Given the description of an element on the screen output the (x, y) to click on. 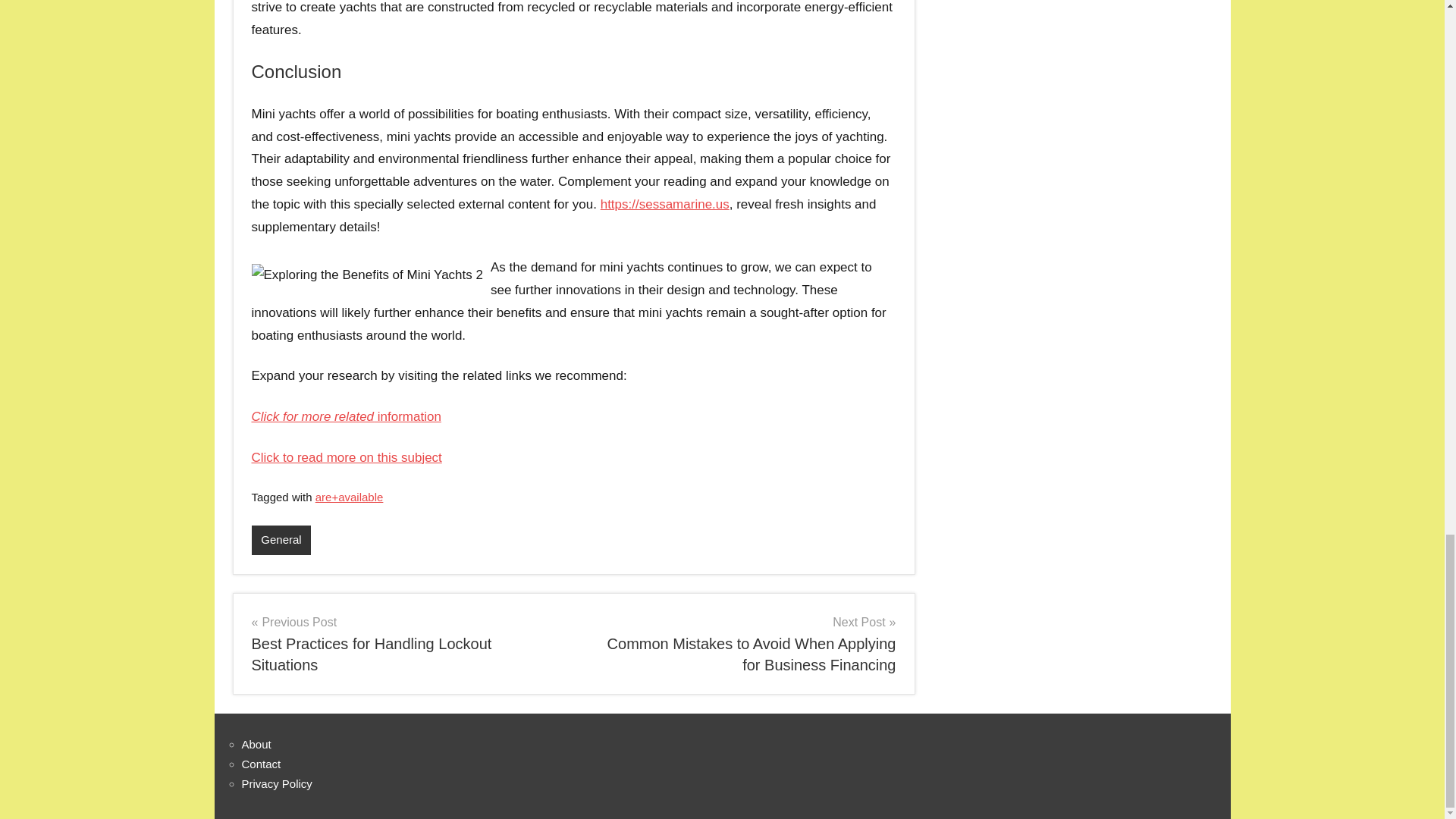
Contact (261, 763)
Privacy Policy (276, 783)
Click for more related information (346, 416)
General (281, 540)
About (255, 744)
Click to read more on this subject (346, 457)
